Given the description of an element on the screen output the (x, y) to click on. 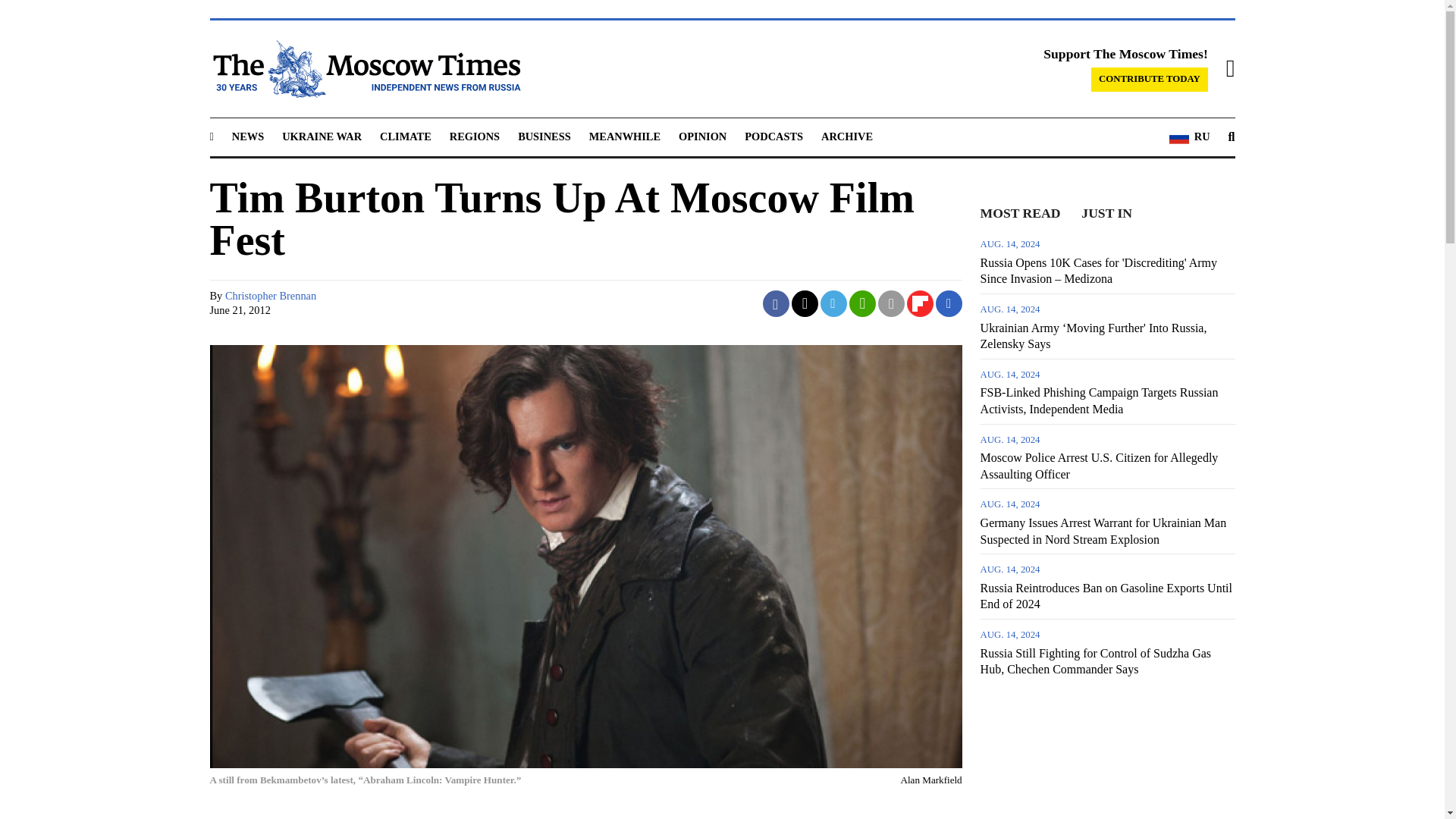
PODCASTS (773, 136)
The Moscow Times - Independent News from Russia (364, 68)
Share on Twitter (805, 303)
Christopher Brennan (270, 295)
CONTRIBUTE TODAY (1149, 79)
CLIMATE (405, 136)
MEANWHILE (625, 136)
OPINION (702, 136)
ARCHIVE (846, 136)
BUSINESS (544, 136)
